Given the description of an element on the screen output the (x, y) to click on. 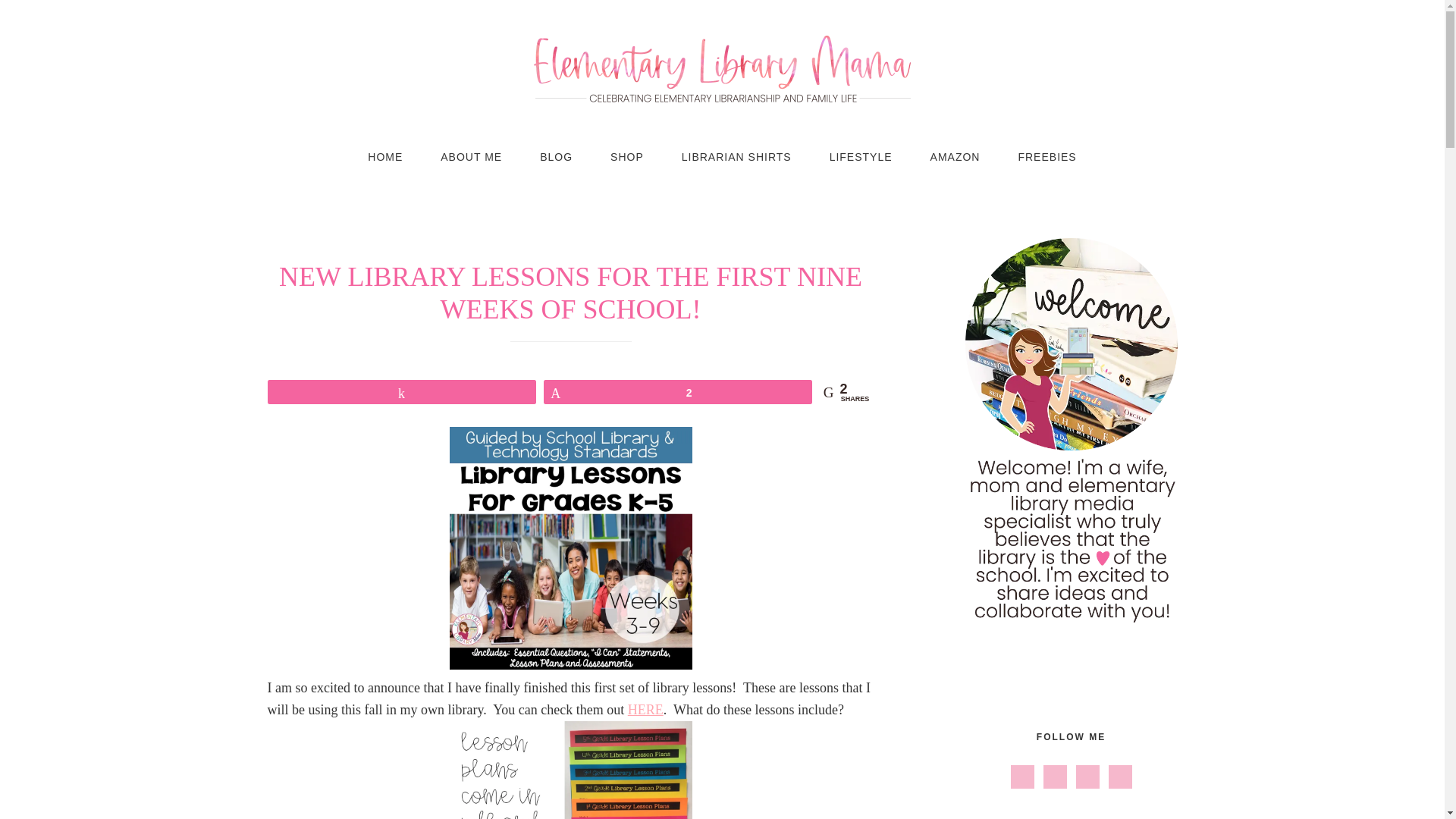
ELEMENTARY LIBRARY MAMA (721, 68)
2 (677, 391)
HOME (385, 156)
LIFESTYLE (860, 156)
HERE (645, 709)
SHOP (626, 156)
ABOUT ME (471, 156)
FREEBIES (1046, 156)
LIBRARIAN SHIRTS (736, 156)
